Given the description of an element on the screen output the (x, y) to click on. 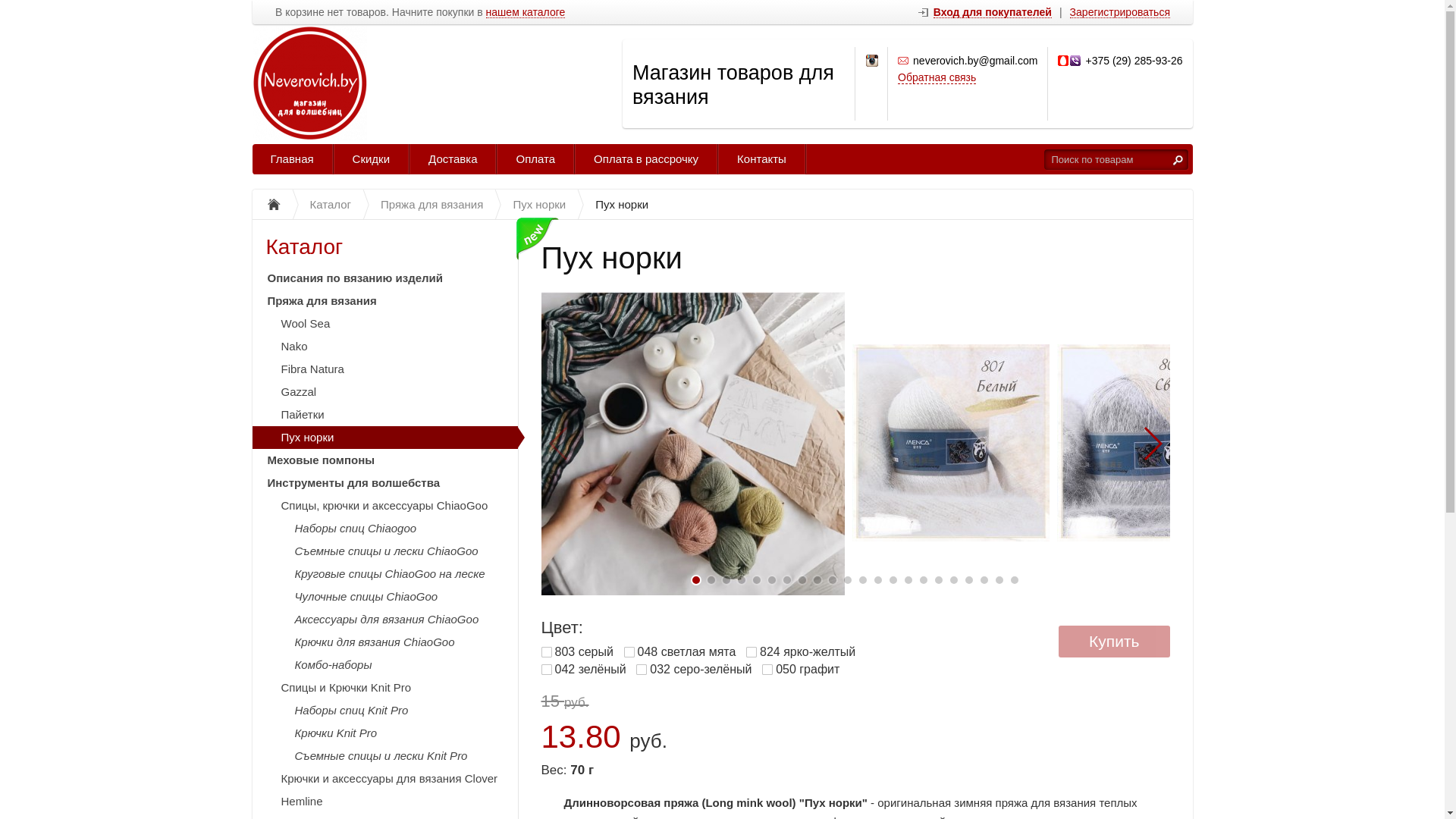
Hemline Element type: text (384, 801)
Nako Element type: text (384, 346)
Fibra Natura Element type: text (384, 368)
  Element type: text (1177, 159)
Wool Sea Element type: text (384, 323)
Gazzal Element type: text (384, 391)
